Given the description of an element on the screen output the (x, y) to click on. 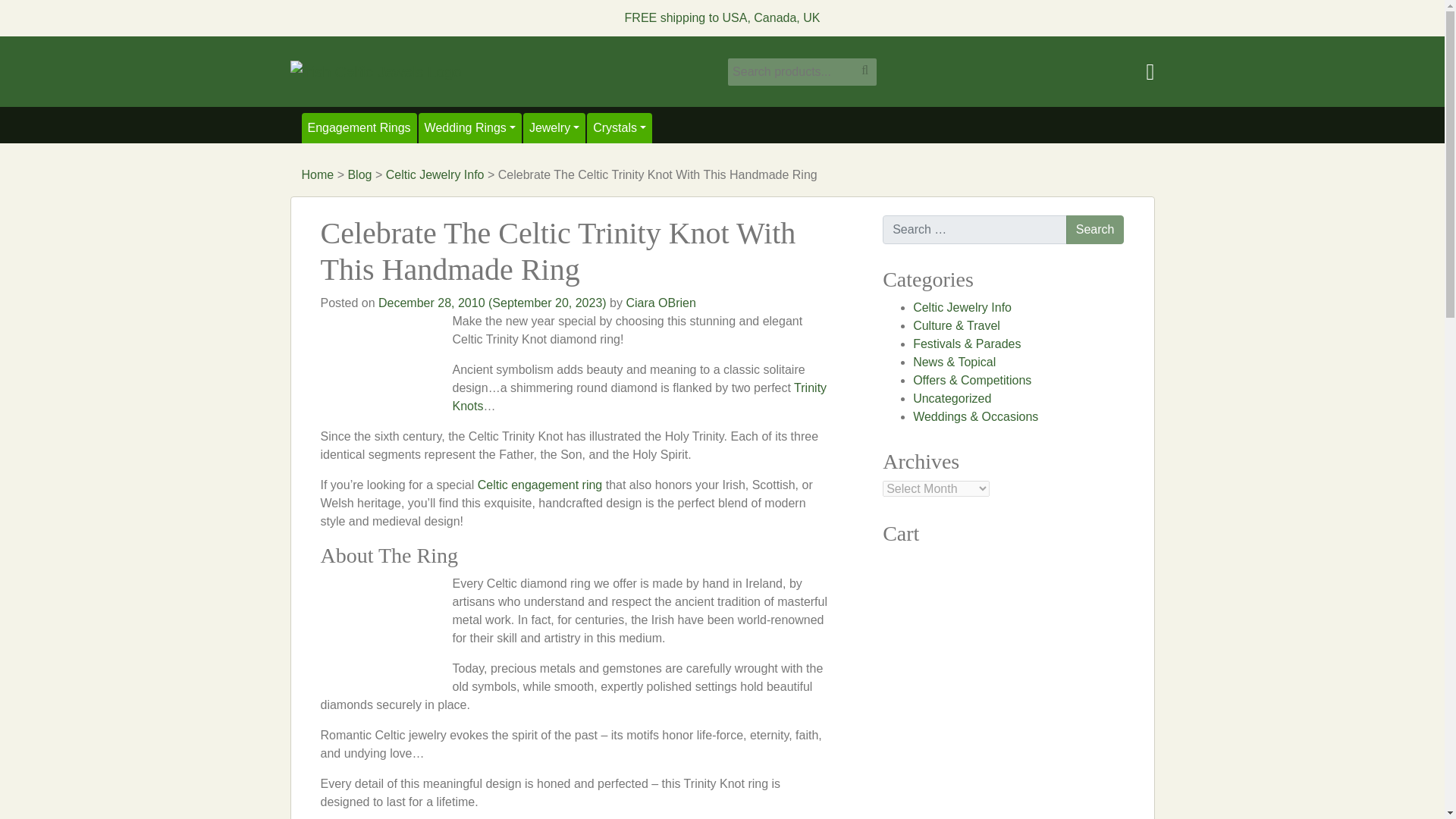
Crystals (619, 128)
Home (317, 174)
Search (1094, 229)
FREE shipping to USA, Canada, UK (722, 17)
Celtic Jewelry Info (434, 174)
Jewelry (553, 128)
Jewelry (553, 128)
Wedding Rings (470, 128)
Search (1094, 229)
Ciara OBrien (660, 302)
Trinity Knots (639, 396)
Blog (359, 174)
Wedding Rings (470, 128)
Engagement Rings (358, 128)
Engagement Rings (358, 128)
